Given the description of an element on the screen output the (x, y) to click on. 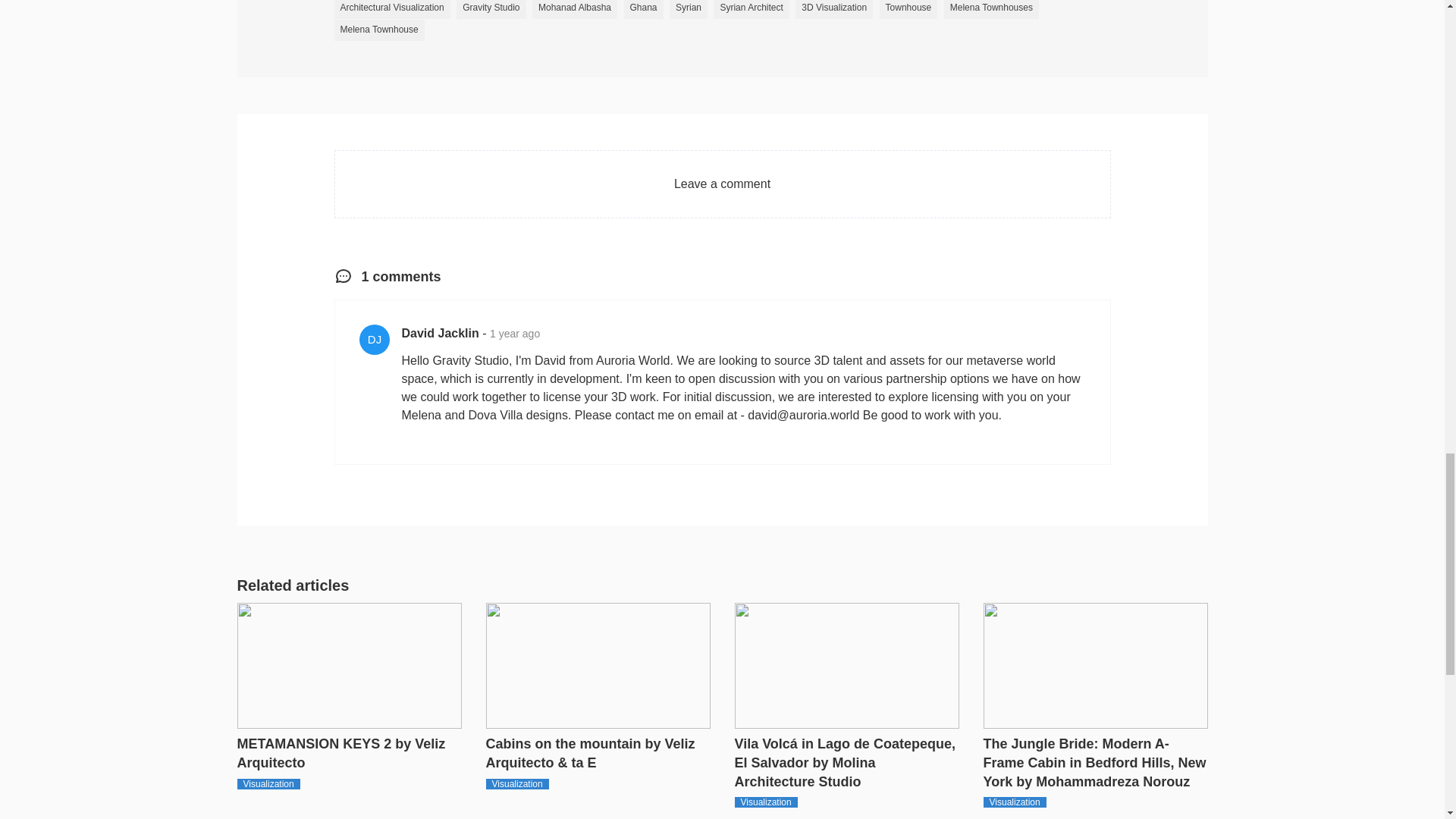
DJ (374, 339)
